Given the description of an element on the screen output the (x, y) to click on. 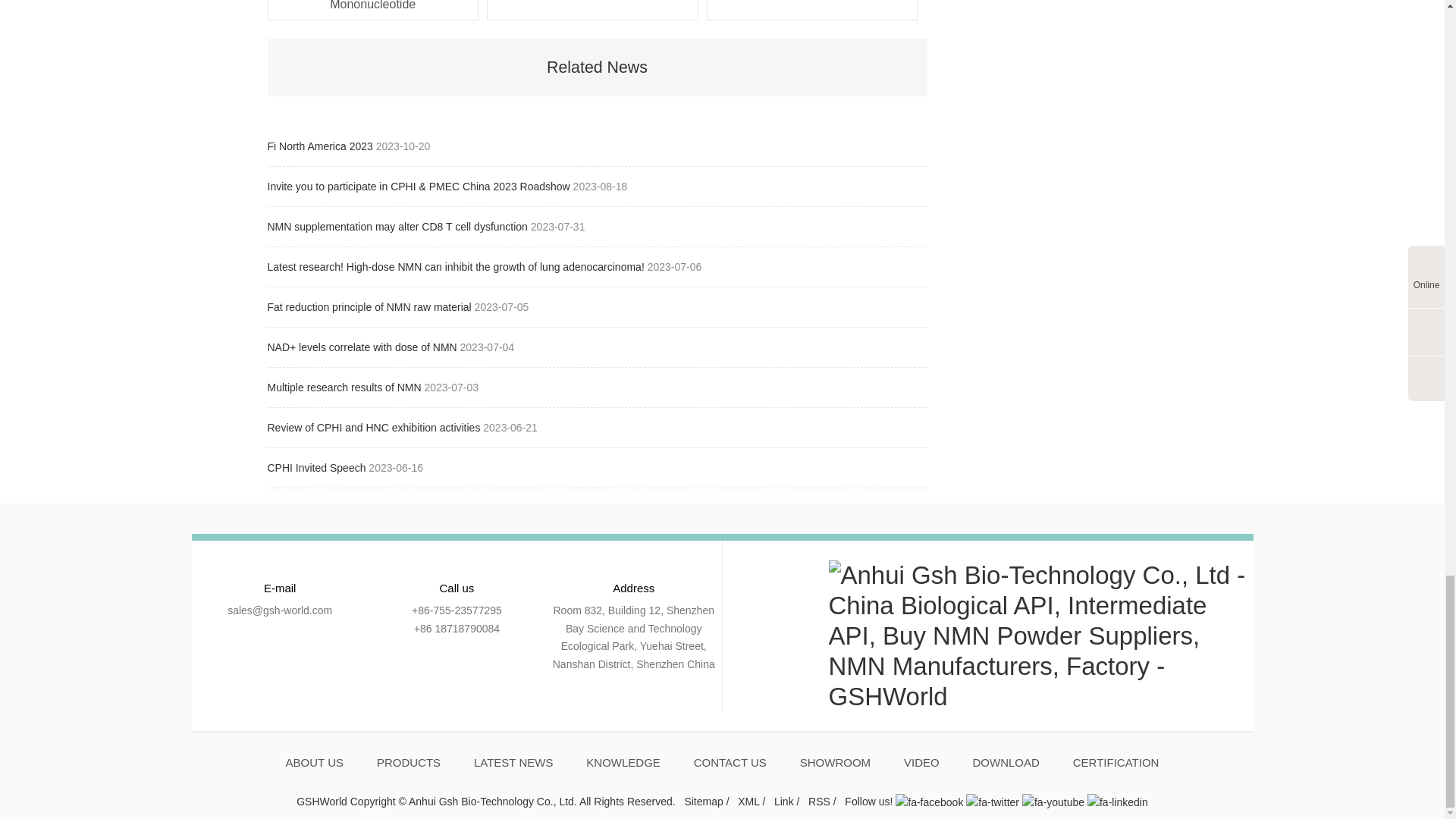
CPHI Invited Speech (317, 467)
Review of CPHI and HNC exhibition activities (374, 427)
Multiple research results of NMN (344, 387)
Bulk Powder Nicotinamide Mononucleotide (373, 6)
Fat reduction principle of NMN raw material (370, 306)
Fat reduction principle of NMN raw material (370, 306)
Fi North America 2023 (320, 146)
NMN supplementation may alter CD8 T cell dysfunction (397, 226)
